Given the description of an element on the screen output the (x, y) to click on. 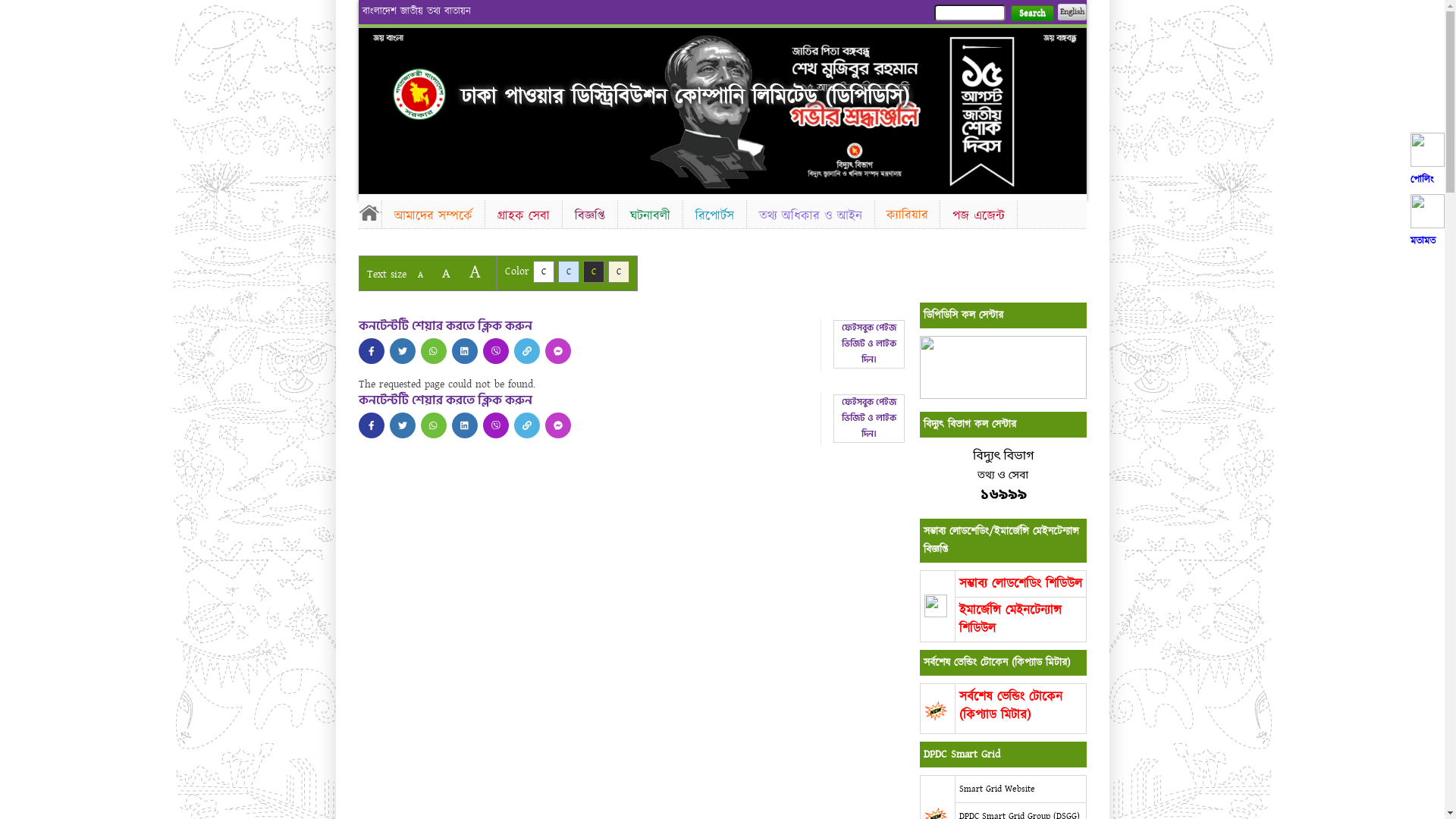
Smart Grid Website Element type: text (996, 788)
C Element type: text (592, 271)
A Element type: text (474, 271)
C Element type: text (618, 271)
Home Element type: hover (368, 211)
A Element type: text (419, 274)
English Element type: text (1071, 11)
Home Element type: hover (418, 93)
C Element type: text (542, 271)
A Element type: text (445, 273)
Search Element type: text (1031, 13)
C Element type: text (568, 271)
